Given the description of an element on the screen output the (x, y) to click on. 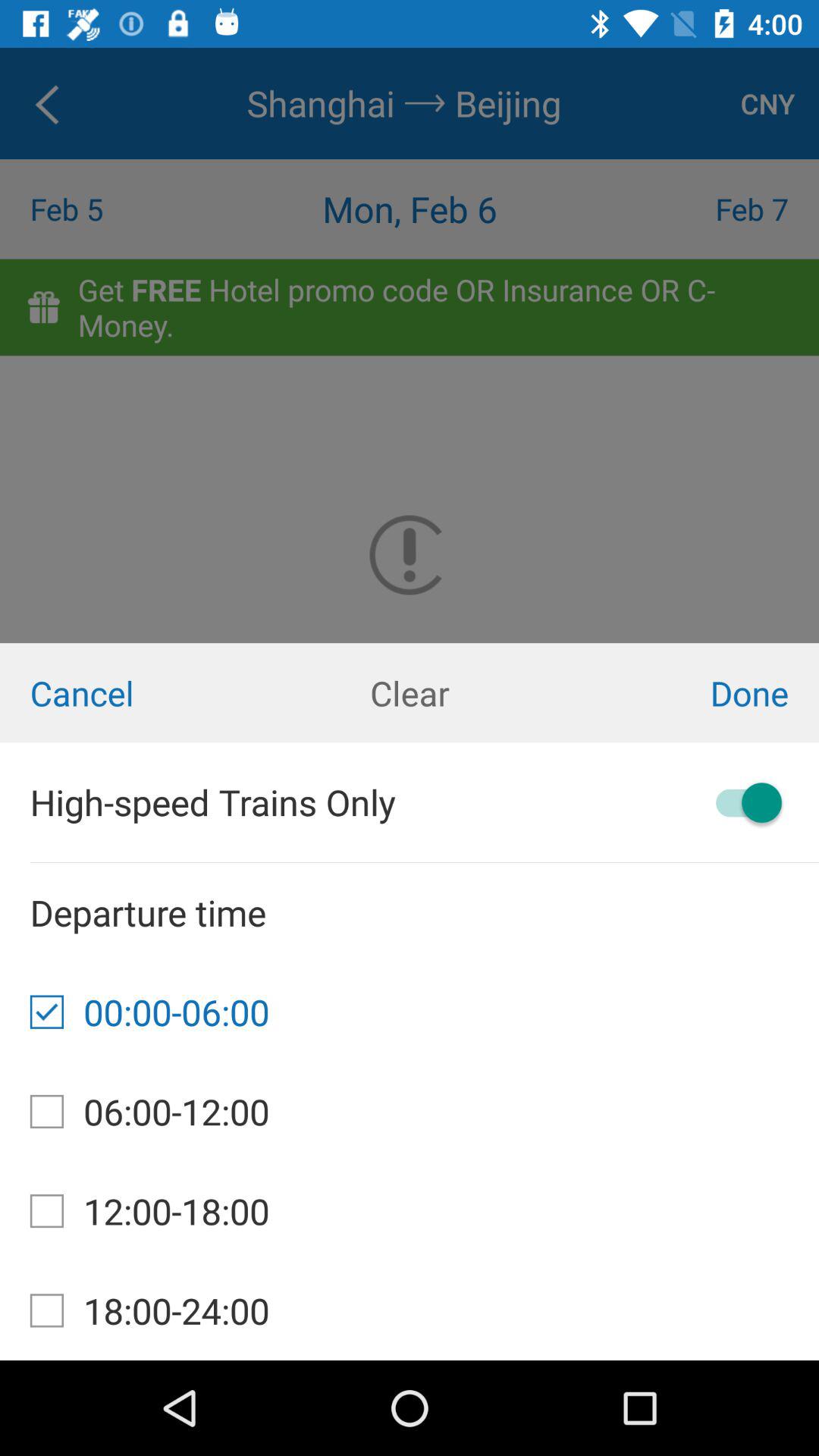
tap the icon to the right of the clear (682, 692)
